Given the description of an element on the screen output the (x, y) to click on. 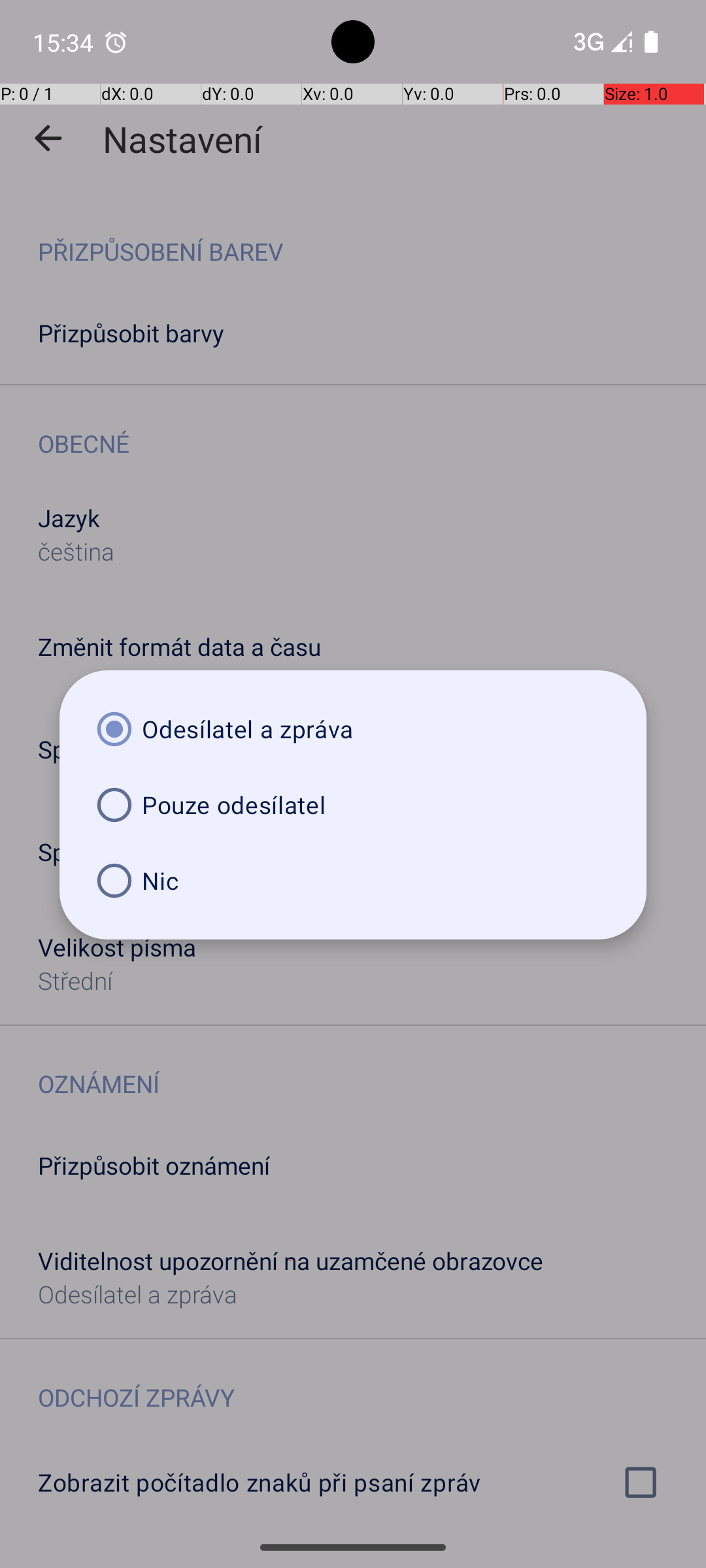
Odesílatel a zpráva Element type: android.widget.RadioButton (352, 729)
Pouze odesílatel Element type: android.widget.RadioButton (352, 804)
Nic Element type: android.widget.RadioButton (352, 880)
